Given the description of an element on the screen output the (x, y) to click on. 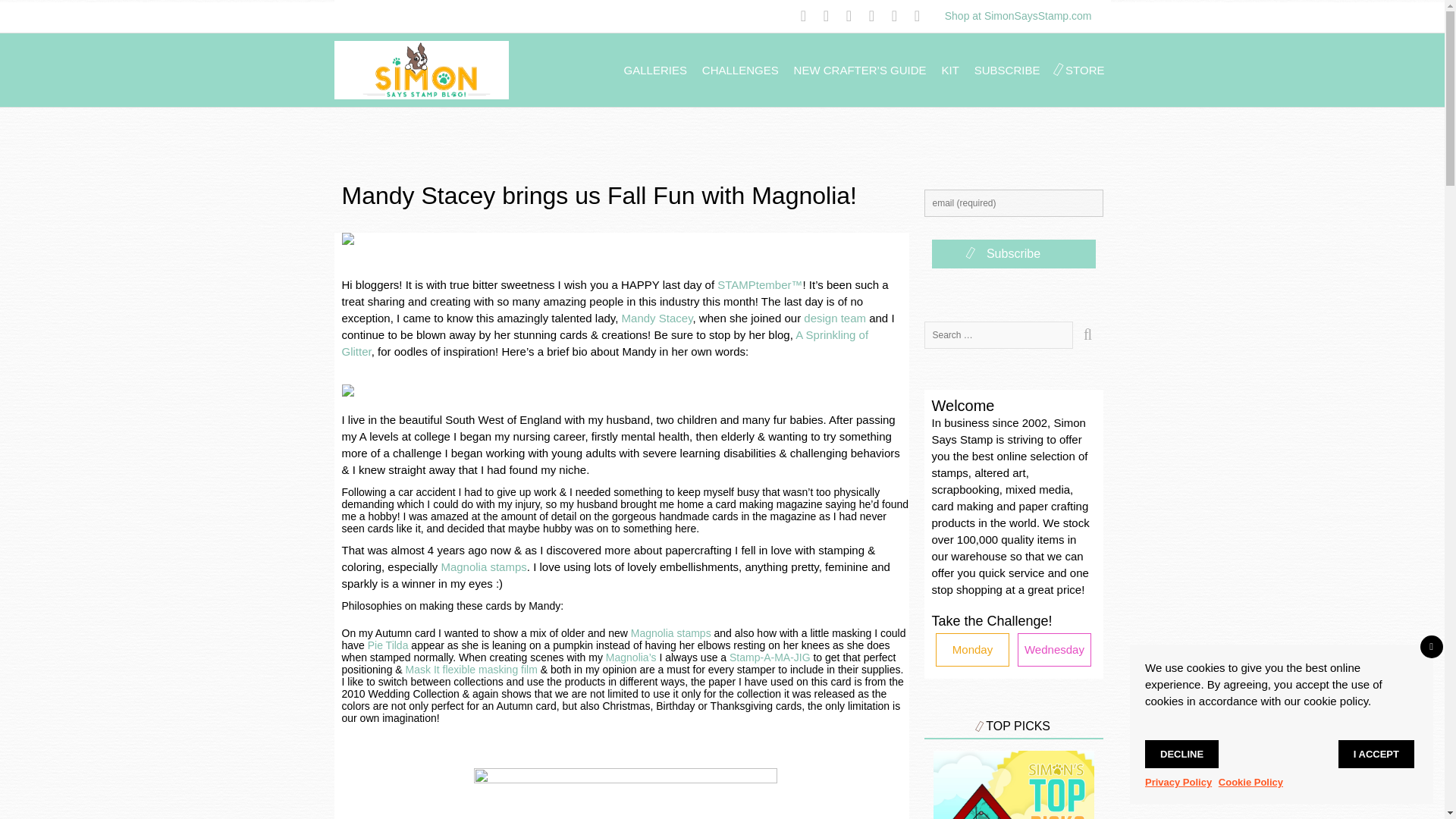
Mandy Stacey (657, 318)
GALLERIES (655, 69)
STAMPtember (753, 284)
Search (1086, 334)
design team (834, 318)
STORE (1084, 69)
Subscribe (1012, 253)
Shop at SimonSaysStamp.com (1018, 15)
Search (1086, 334)
CHALLENGES (739, 69)
KIT (950, 69)
SUBSCRIBE (1007, 69)
